Given the description of an element on the screen output the (x, y) to click on. 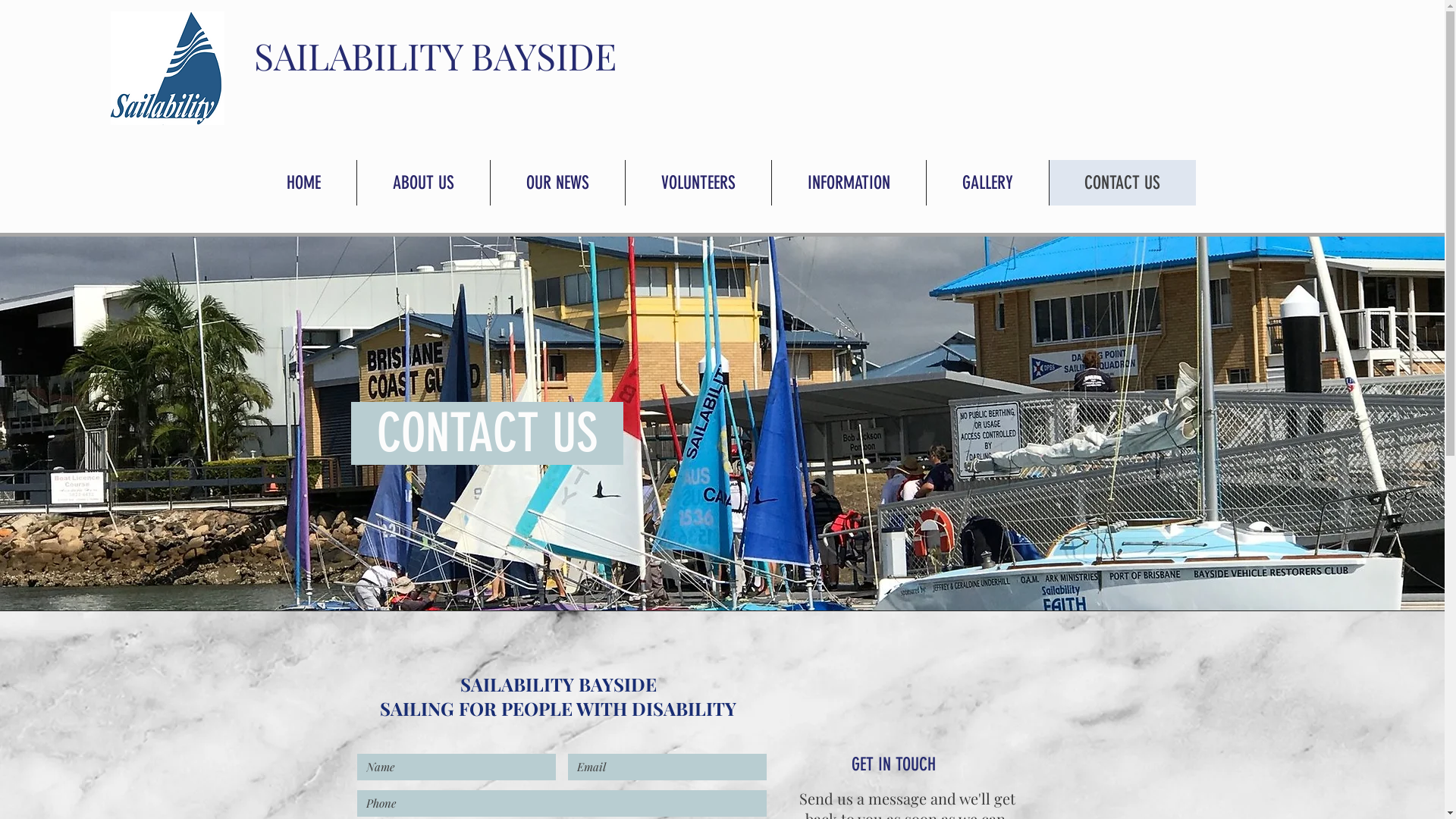
OUR NEWS Element type: text (556, 182)
SAILABILITY BAYSIDE Element type: text (434, 55)
INFORMATION Element type: text (847, 182)
VOLUNTEERS Element type: text (697, 182)
ABOUT US Element type: text (422, 182)
GALLERY Element type: text (986, 182)
HOME Element type: text (302, 182)
CONTACT US Element type: text (1121, 182)
